Given the description of an element on the screen output the (x, y) to click on. 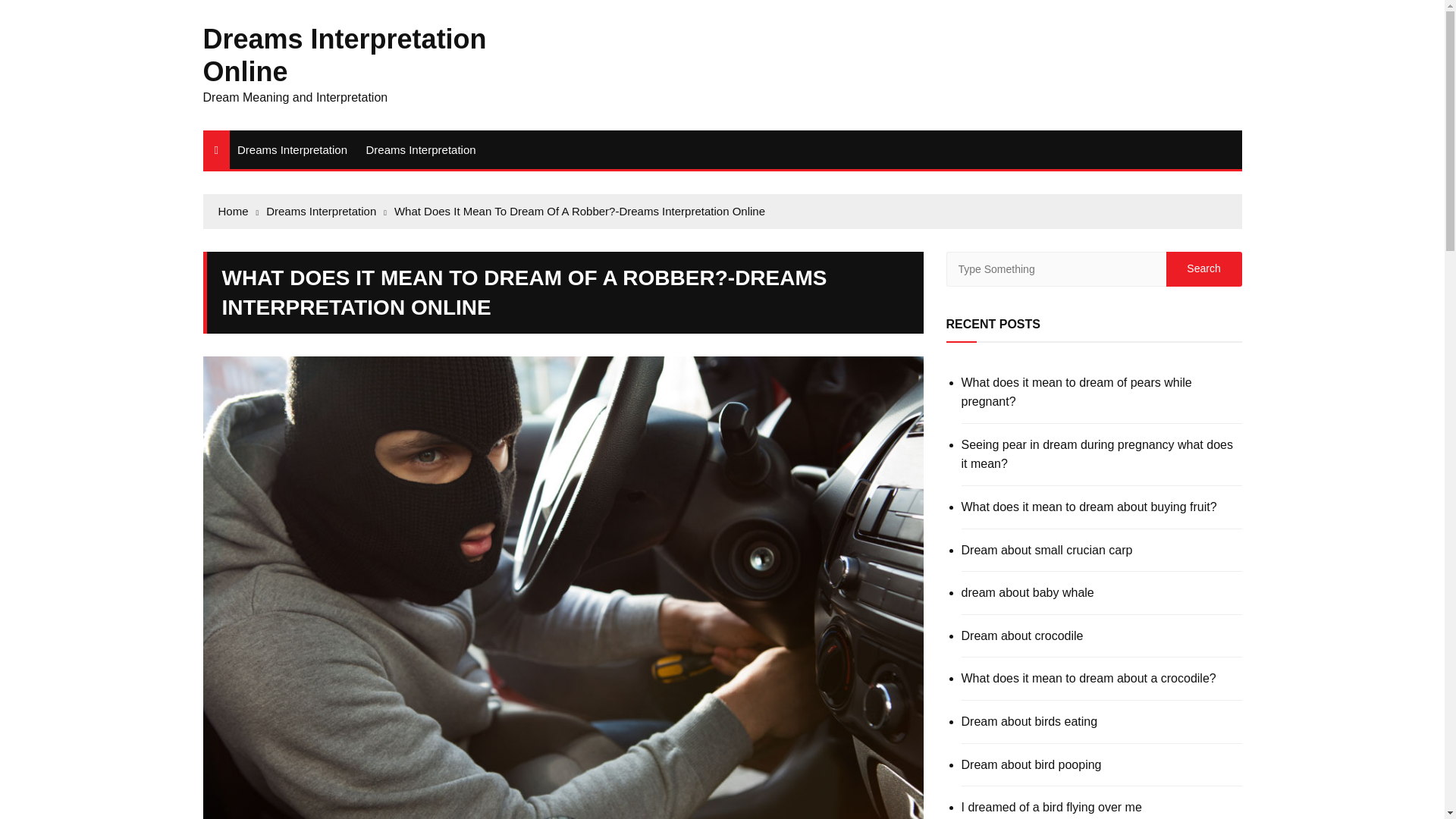
Dreams Interpretation Online (344, 54)
Dreams Interpretation (420, 149)
Dreams Interpretation (292, 149)
Search (1203, 268)
